Given the description of an element on the screen output the (x, y) to click on. 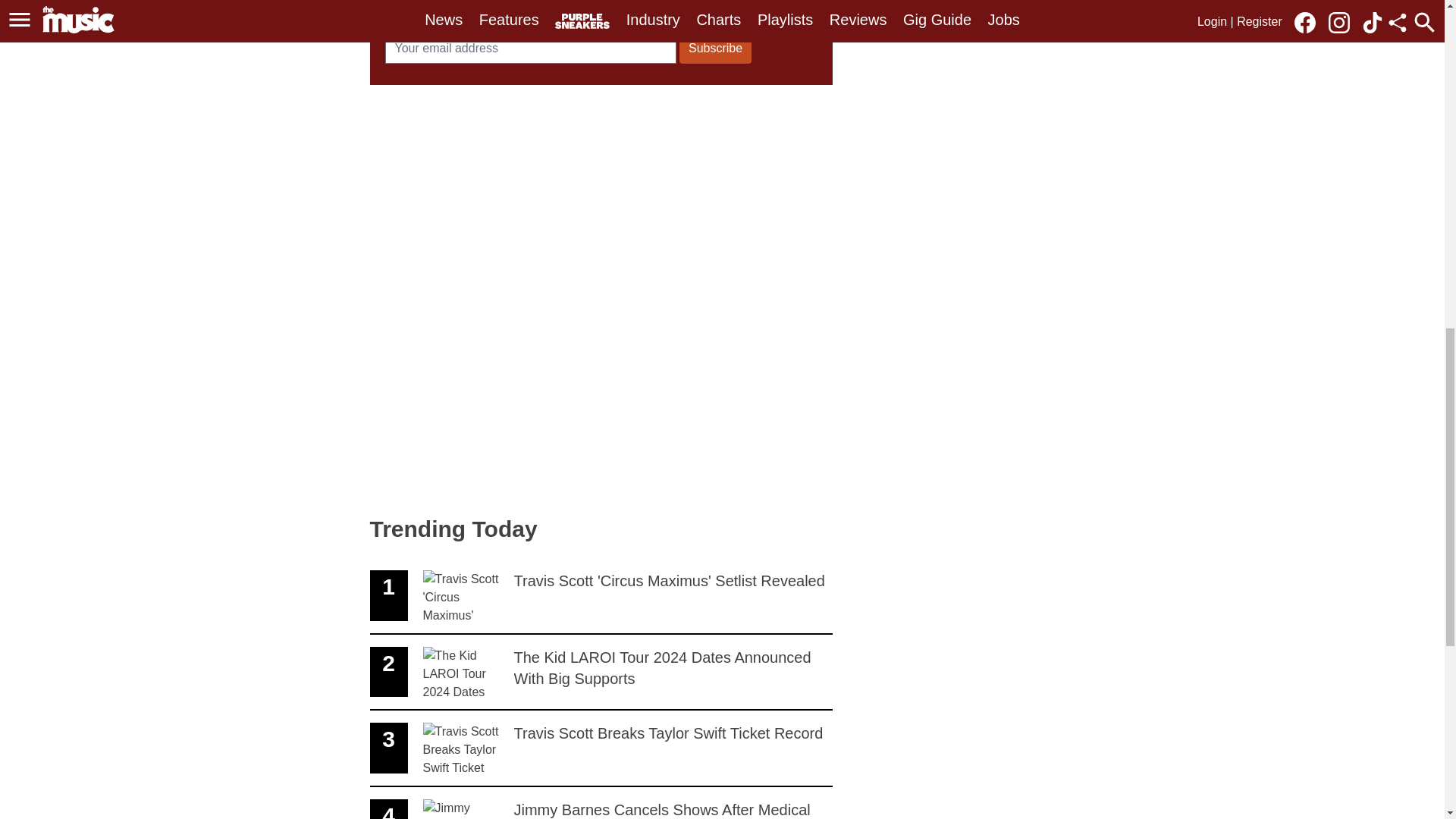
Subscribe (600, 672)
